Given the description of an element on the screen output the (x, y) to click on. 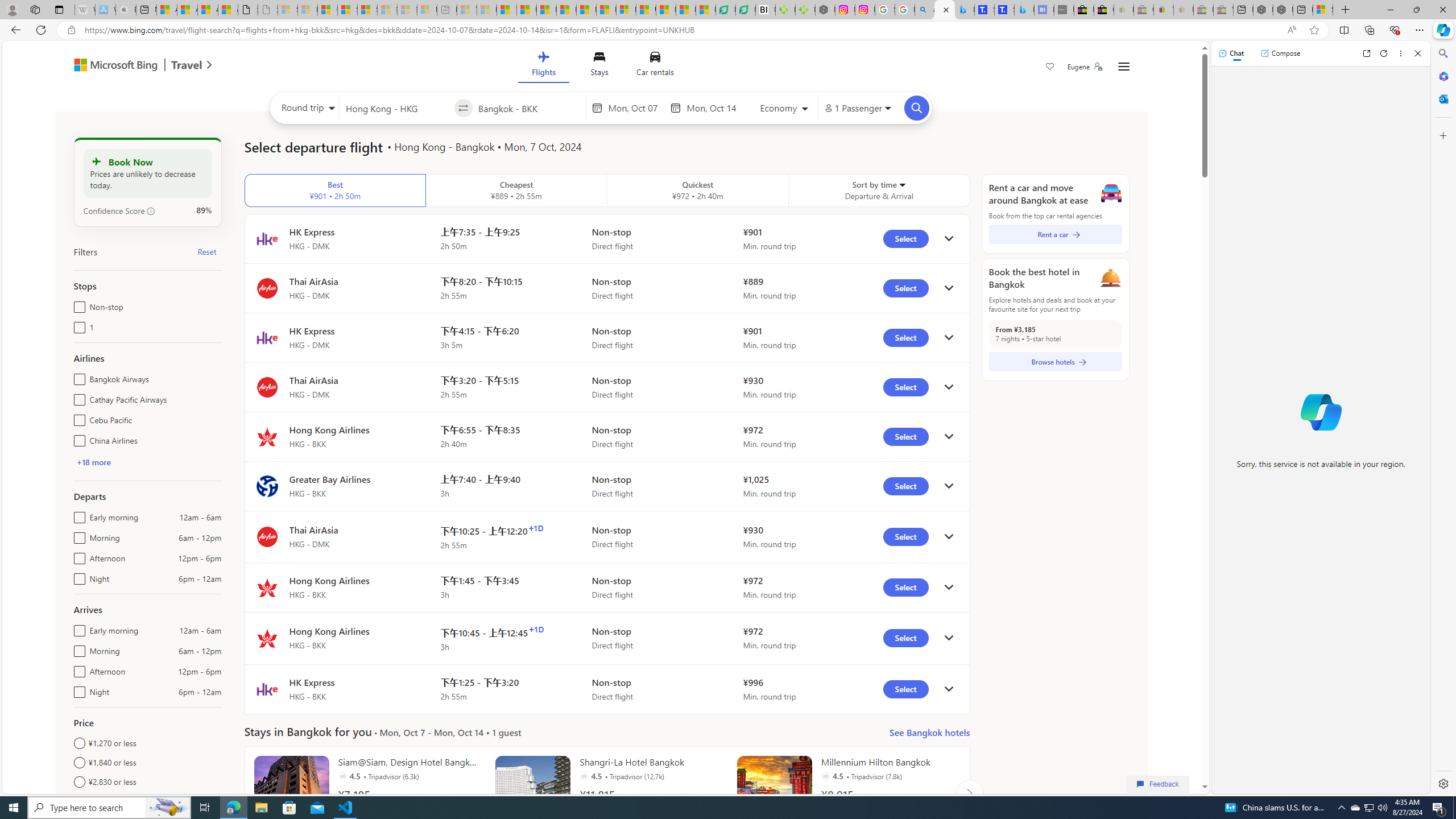
click to get details (948, 688)
Food and Drink - MSN (526, 9)
LendingTree - Compare Lenders (745, 9)
